Given the description of an element on the screen output the (x, y) to click on. 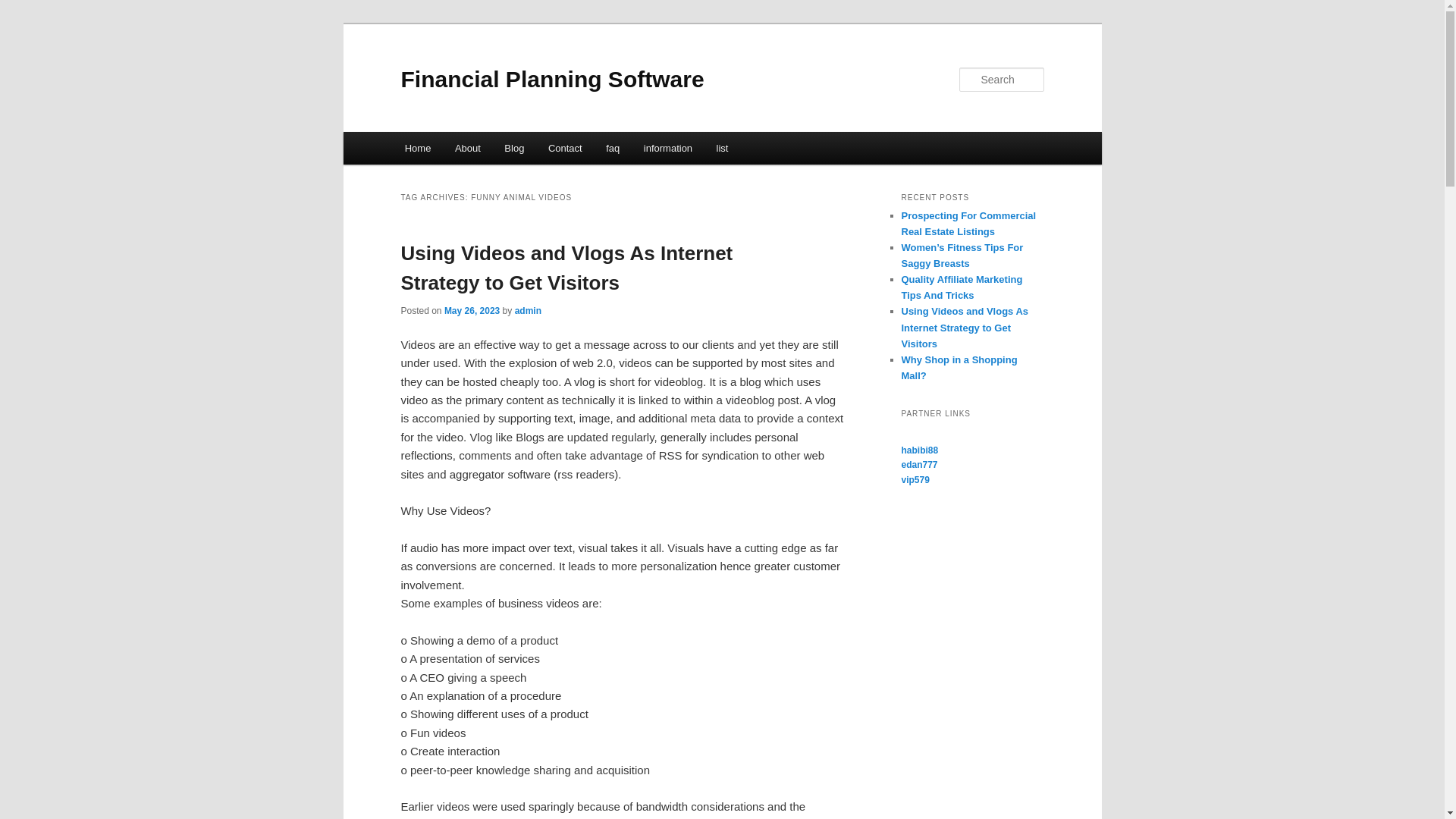
Quality Affiliate Marketing Tips And Tricks (961, 287)
faq (612, 147)
Why Shop in a Shopping Mall? (958, 367)
list (721, 147)
May 26, 2023 (471, 310)
Search (24, 8)
About (467, 147)
View all posts by admin (528, 310)
About (467, 147)
information (667, 147)
faq (612, 147)
Blog (515, 147)
Home (417, 147)
Using Videos and Vlogs As Internet Strategy to Get Visitors (964, 326)
Using Videos and Vlogs As Internet Strategy to Get Visitors (566, 267)
